Given the description of an element on the screen output the (x, y) to click on. 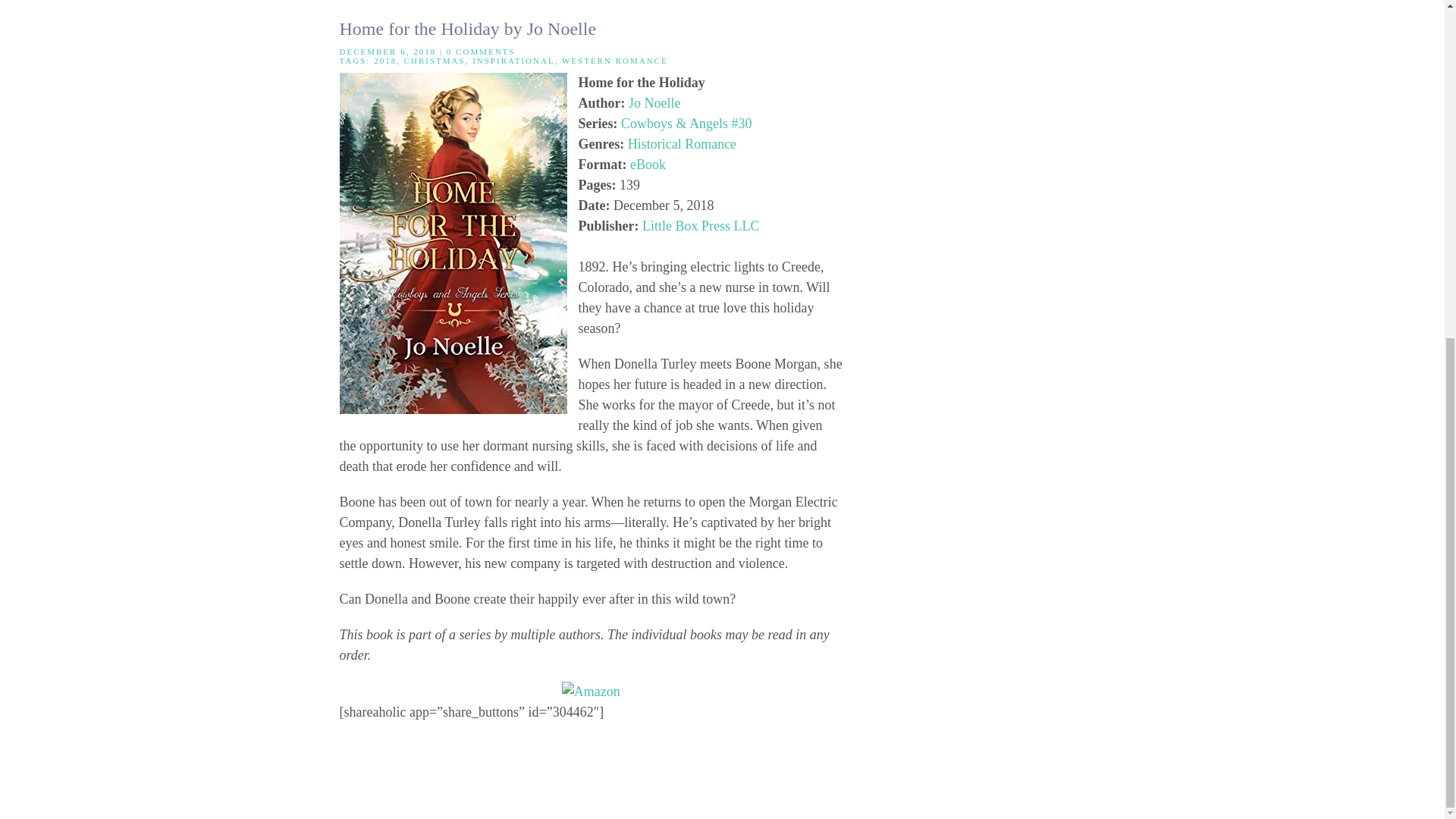
0 COMMENTS (480, 51)
CHRISTMAS (434, 60)
Jo Noelle (653, 102)
INSPIRATIONAL (512, 60)
Historical Romance (681, 143)
Little Box Press LLC (701, 225)
WESTERN ROMANCE (615, 60)
eBook (647, 164)
2018 (385, 60)
